Given the description of an element on the screen output the (x, y) to click on. 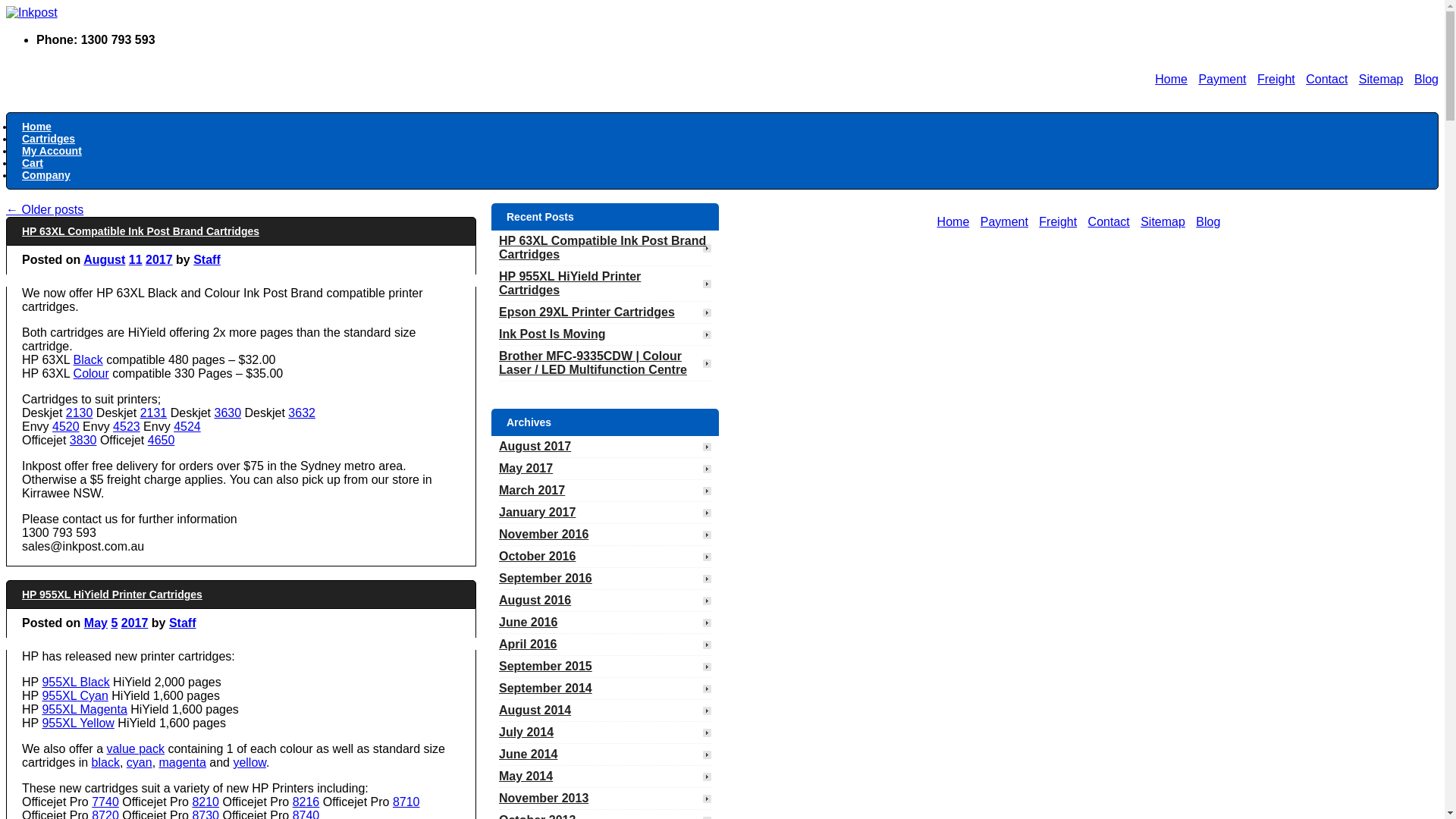
November 2013 Element type: text (550, 797)
Ink Post Is Moving Element type: text (559, 333)
Freight Element type: text (1276, 78)
June 2016 Element type: text (535, 621)
HP 955XL HiYield Printer Cartridges Element type: text (569, 282)
Black Element type: text (88, 359)
Staff Element type: text (182, 622)
Payment Element type: text (1221, 78)
HP 63XL Compatible Ink Post Brand Cartridges Element type: text (140, 231)
Contact Element type: text (1326, 78)
955XL Magenta Element type: text (83, 708)
July 2014 Element type: text (533, 731)
2131 Element type: text (153, 412)
11 Element type: text (135, 259)
Home Element type: text (1170, 78)
May Element type: text (95, 622)
Blog Element type: text (1426, 78)
June 2014 Element type: text (535, 753)
8210 Element type: text (205, 801)
My Account Element type: text (51, 150)
3830 Element type: text (83, 439)
Freight Element type: text (1057, 221)
August Element type: text (104, 259)
black Element type: text (105, 762)
4520 Element type: text (65, 426)
Cartridges Element type: text (48, 138)
Sitemap Element type: text (1380, 78)
Company Element type: text (45, 175)
Sitemap Element type: text (1162, 221)
January 2017 Element type: text (544, 511)
August 2014 Element type: text (542, 709)
November 2016 Element type: text (550, 533)
cyan Element type: text (139, 762)
955XL Black Element type: text (75, 681)
Staff Element type: text (206, 259)
August 2017 Element type: text (542, 445)
Home Element type: text (953, 221)
2130 Element type: text (79, 412)
September 2016 Element type: text (552, 577)
Blog Element type: text (1207, 221)
September 2015 Element type: text (552, 665)
August 2016 Element type: text (542, 599)
magenta Element type: text (182, 762)
HP 955XL HiYield Printer Cartridges Element type: text (111, 594)
Home Element type: text (36, 126)
April 2016 Element type: text (534, 643)
October 2016 Element type: text (544, 555)
2017 Element type: text (158, 259)
955XL Cyan Element type: text (74, 695)
3630 Element type: text (227, 412)
2017 Element type: text (134, 622)
955XL Yellow Element type: text (77, 722)
May 2014 Element type: text (532, 775)
yellow Element type: text (249, 762)
Cart Element type: text (32, 162)
HP 63XL Compatible Ink Post Brand Cartridges Element type: text (602, 247)
3632 Element type: text (301, 412)
May 2017 Element type: text (532, 467)
Payment Element type: text (1004, 221)
4650 Element type: text (161, 439)
Epson 29XL Printer Cartridges Element type: text (594, 311)
Colour Element type: text (91, 373)
5 Element type: text (113, 622)
8216 Element type: text (306, 801)
value pack Element type: text (135, 748)
Contact Element type: text (1108, 221)
4524 Element type: text (186, 426)
March 2017 Element type: text (539, 489)
September 2014 Element type: text (552, 687)
8710 Element type: text (406, 801)
7740 Element type: text (105, 801)
4523 Element type: text (126, 426)
